Given the description of an element on the screen output the (x, y) to click on. 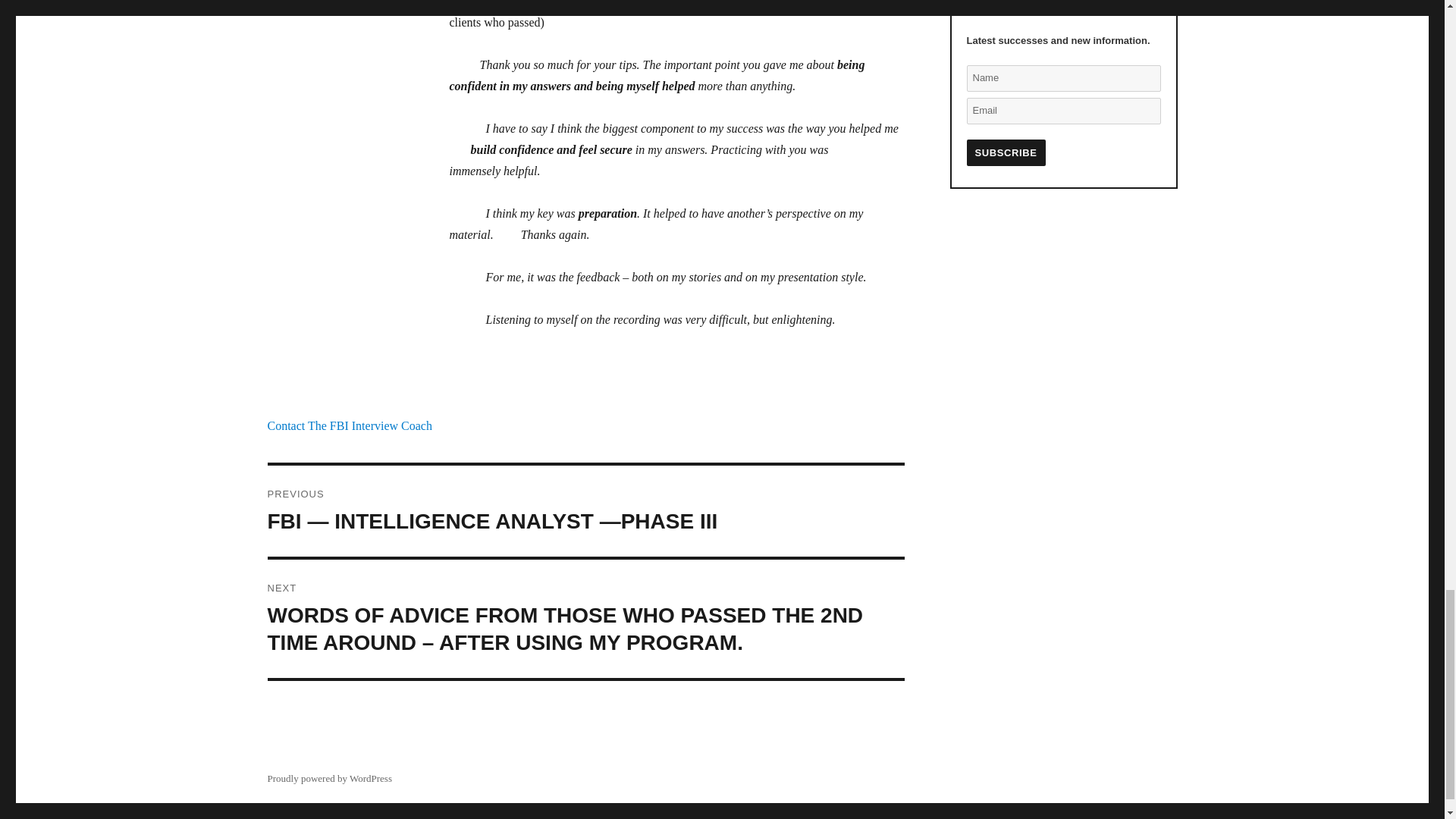
Subscribe (1005, 152)
Contact The FBI Interview Coach (348, 425)
